Given the description of an element on the screen output the (x, y) to click on. 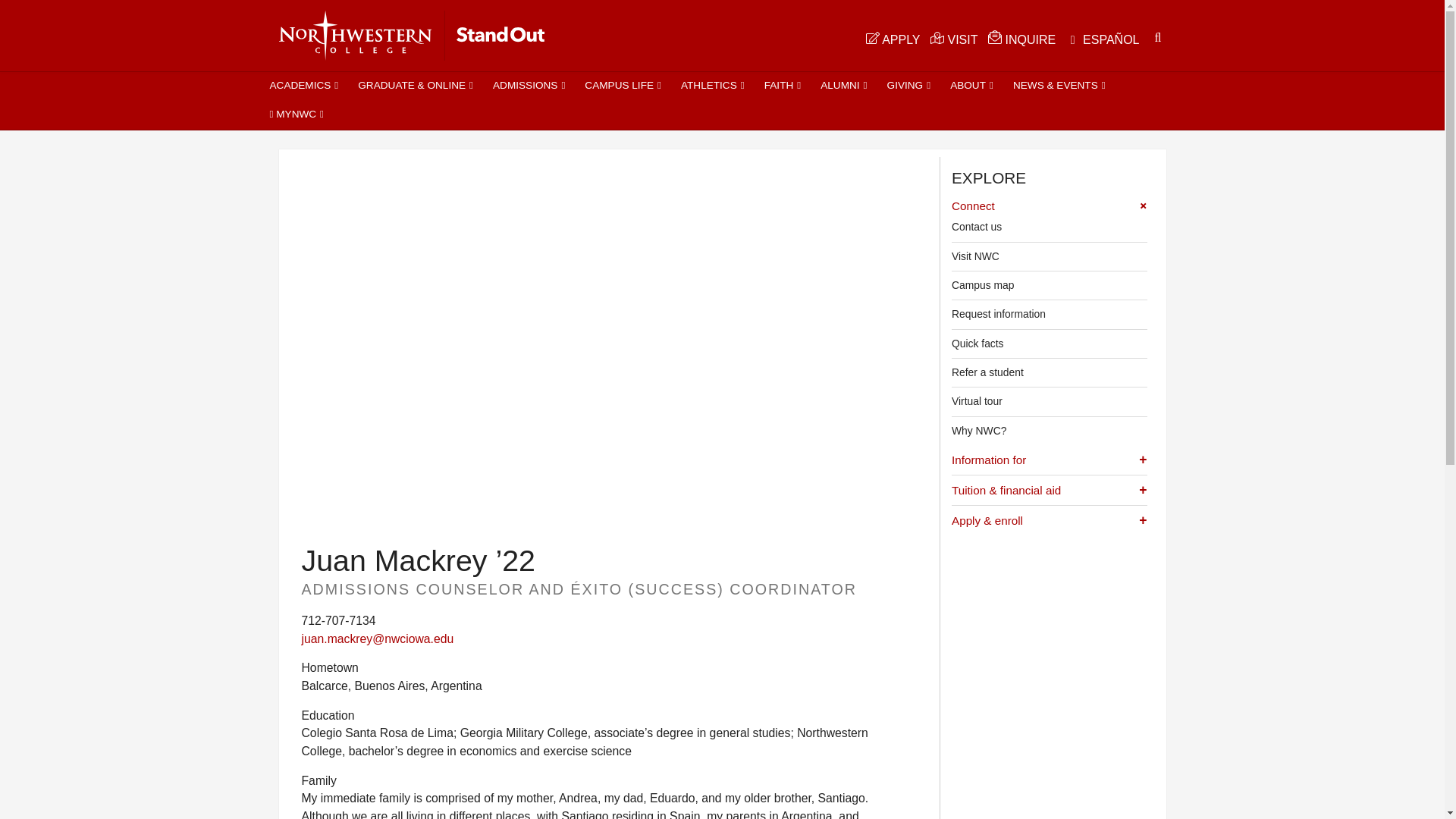
Apply to attend Northwestern (892, 39)
Spanish web pages (1102, 41)
VISIT (953, 39)
APPLY (892, 39)
Visit Northwestern's campus (953, 39)
Toggle search (1158, 36)
Request more information about Northwestern (1021, 38)
Search (1158, 36)
INQUIRE (1021, 38)
ACADEMICS (303, 86)
